Given the description of an element on the screen output the (x, y) to click on. 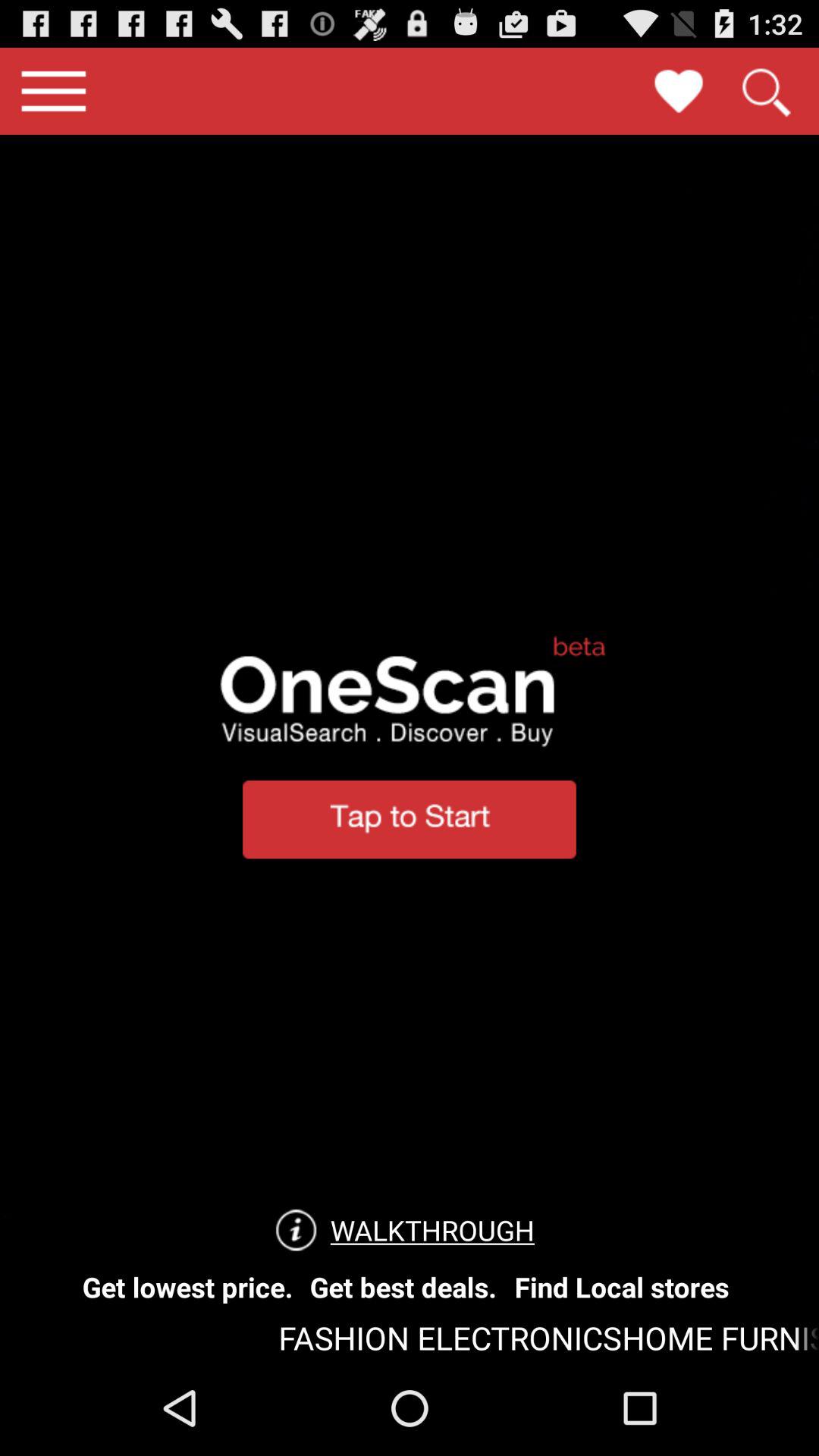
opens the search function (764, 91)
